Given the description of an element on the screen output the (x, y) to click on. 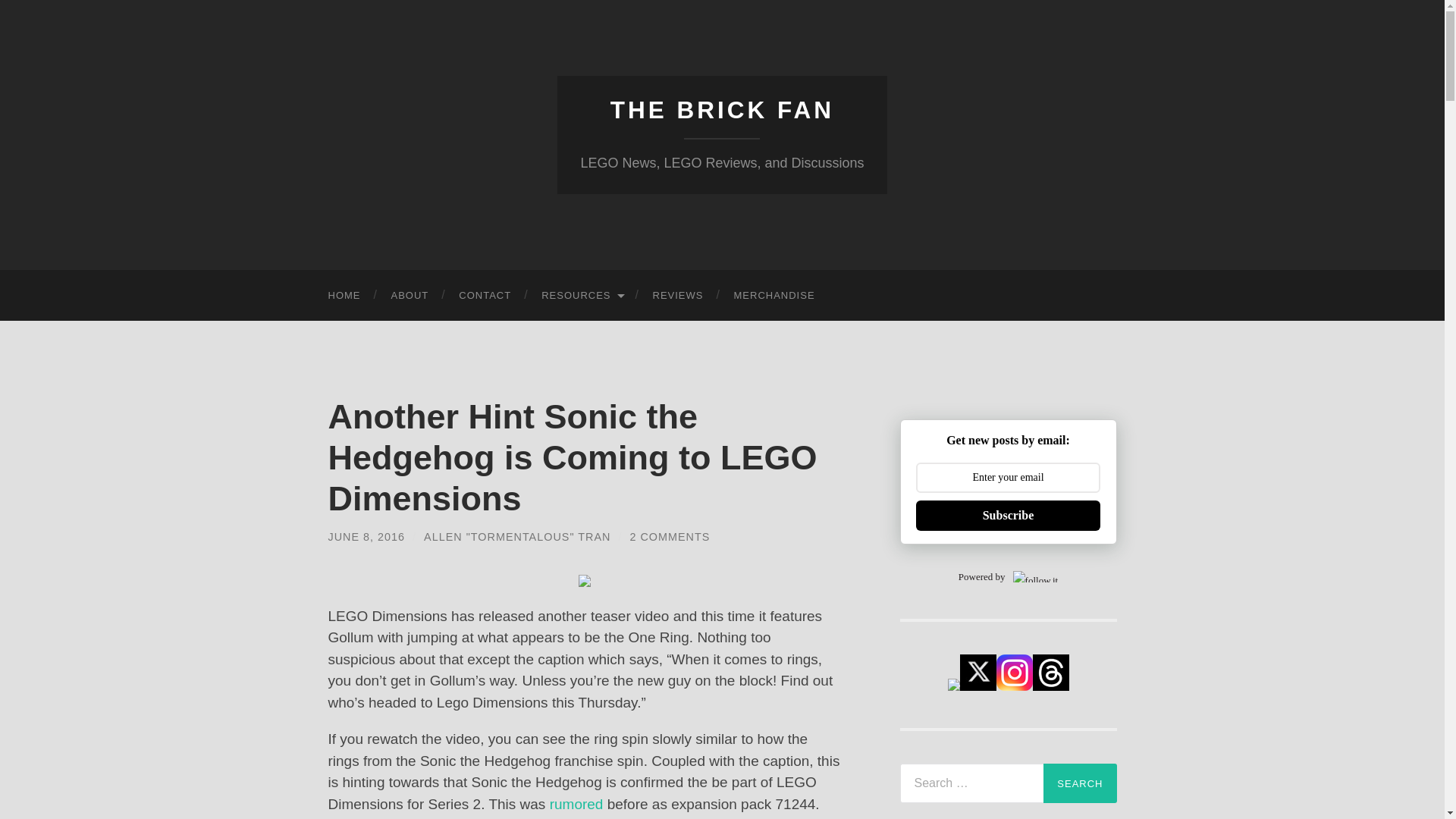
RESOURCES (581, 295)
2 COMMENTS (669, 536)
CONTACT (484, 295)
JUNE 8, 2016 (365, 536)
Search (1079, 783)
MERCHANDISE (774, 295)
THE BRICK FAN (722, 109)
REVIEWS (678, 295)
rumored (577, 804)
ALLEN "TORMENTALOUS" TRAN (516, 536)
Search (1079, 783)
ABOUT (409, 295)
HOME (344, 295)
Posts by Allen "Tormentalous" Tran (516, 536)
